Given the description of an element on the screen output the (x, y) to click on. 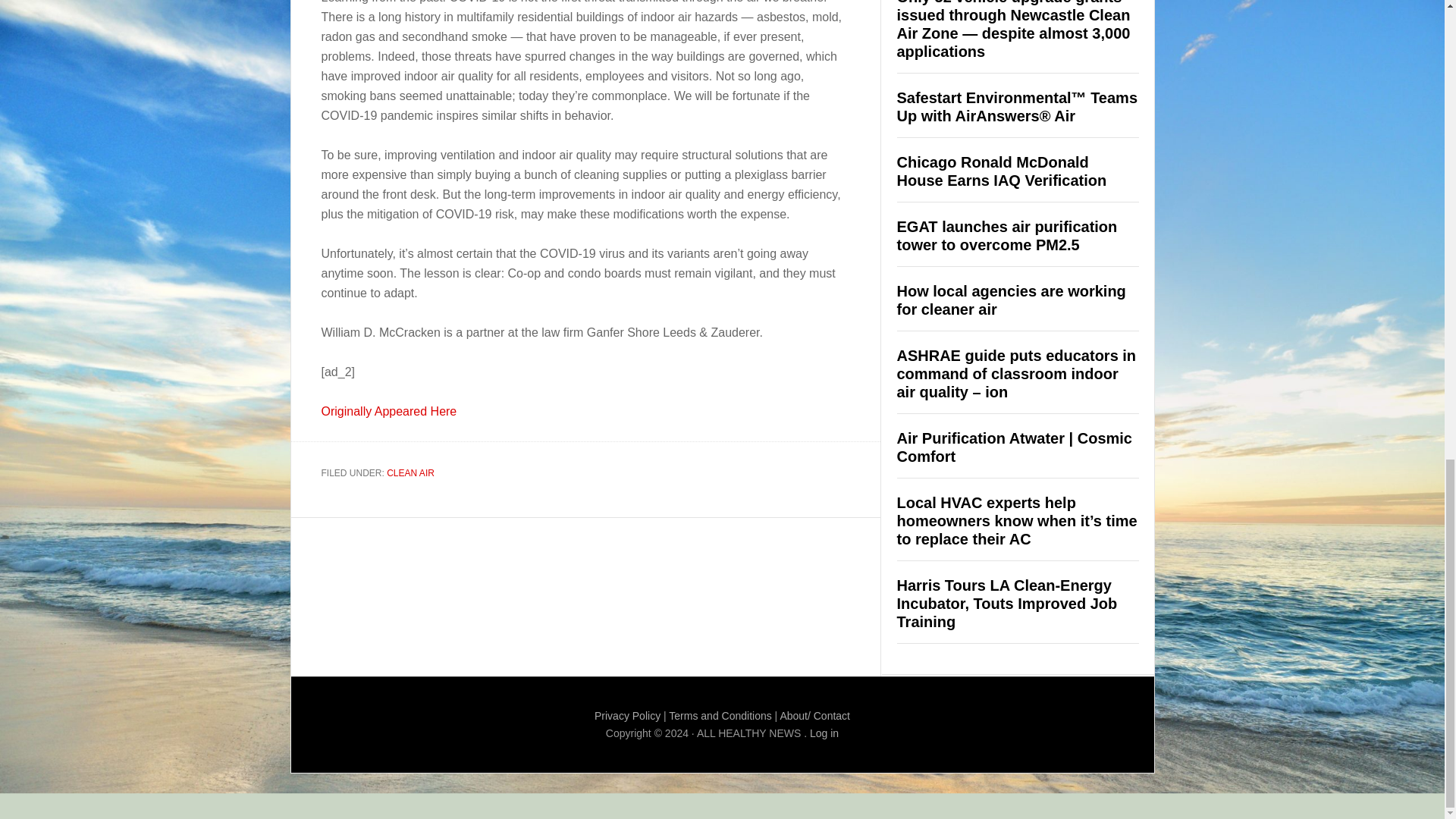
Chicago Ronald McDonald House Earns IAQ Verification (1001, 171)
Originally Appeared Here (389, 410)
CLEAN AIR (410, 472)
How local agencies are working for cleaner air (1010, 299)
Privacy Policy (627, 715)
Log in (823, 733)
Terms and Conditions (719, 715)
EGAT launches air purification tower to overcome PM2.5 (1006, 235)
